Given the description of an element on the screen output the (x, y) to click on. 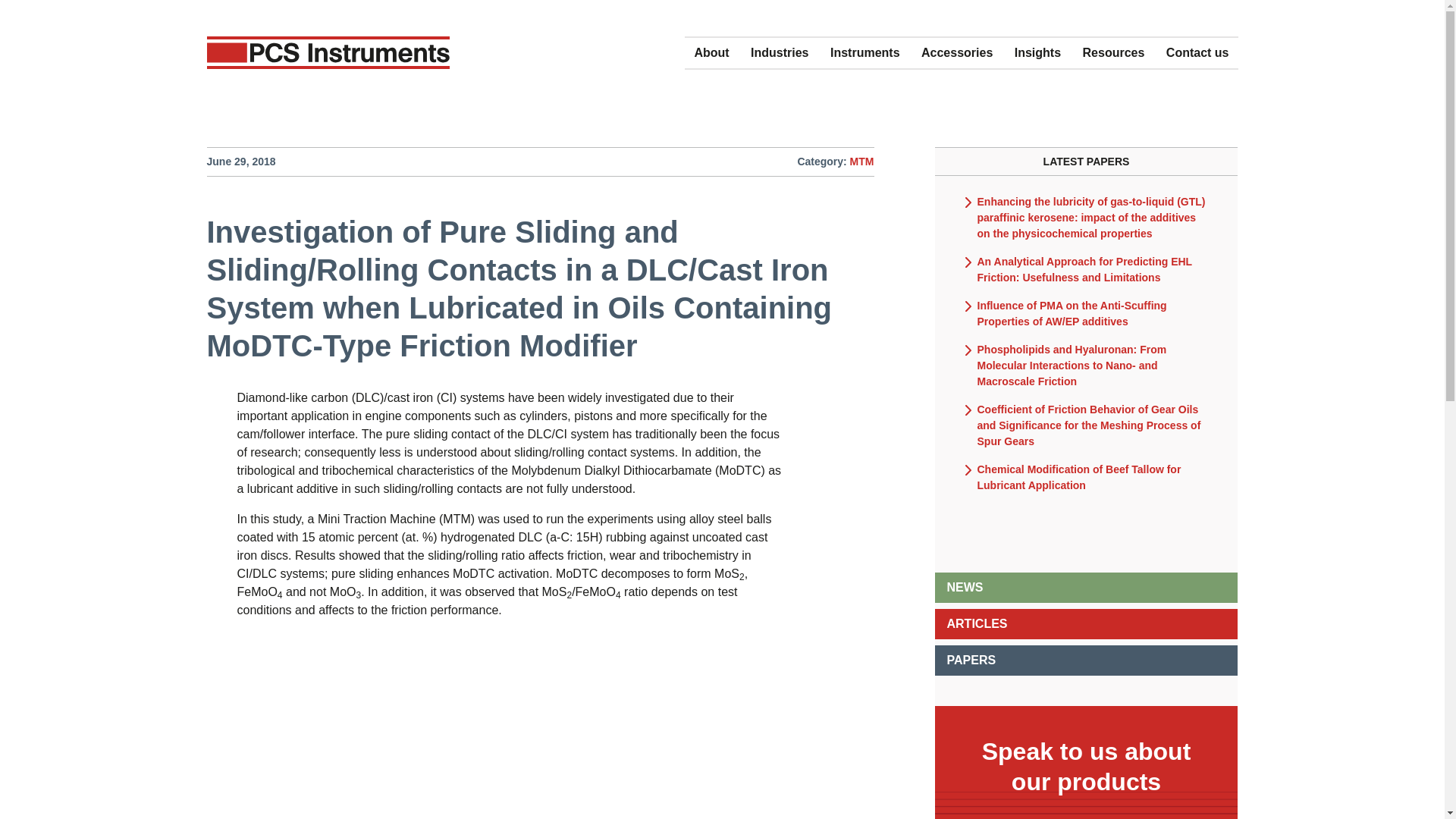
About (711, 52)
Instruments (864, 52)
Accessories (956, 52)
Industries (778, 52)
Insights (1038, 52)
Resources (1114, 52)
